Given the description of an element on the screen output the (x, y) to click on. 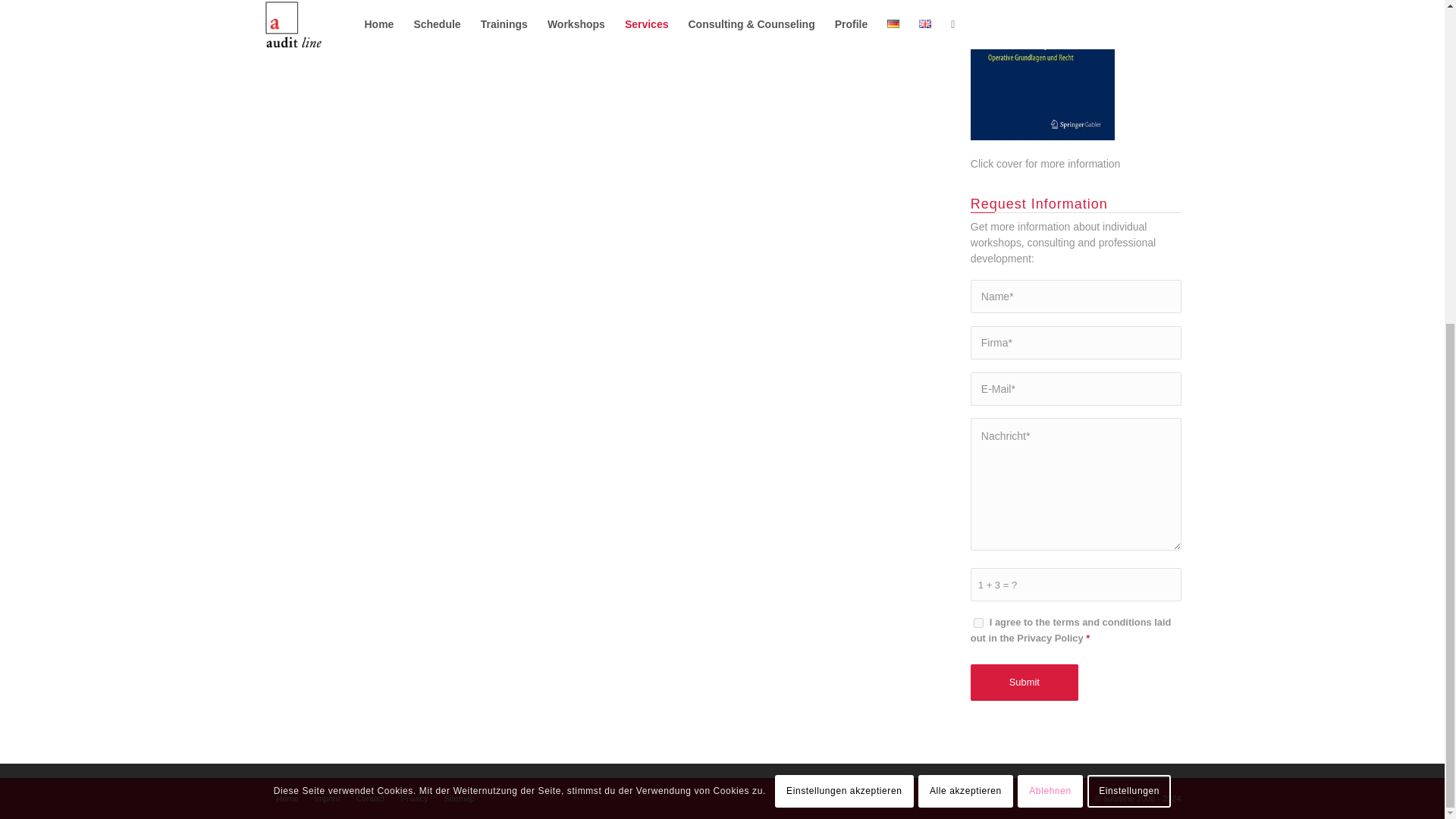
Home (287, 798)
Einstellungen (1128, 262)
Ablehnen (1050, 262)
Submit (1024, 682)
Alle akzeptieren (965, 262)
Einstellungen akzeptieren (844, 262)
Imprint (327, 798)
Privacy Policy (1049, 637)
Submit (1024, 682)
Contact (369, 798)
Sitemap (459, 798)
Privacy (414, 798)
true (979, 623)
